Given the description of an element on the screen output the (x, y) to click on. 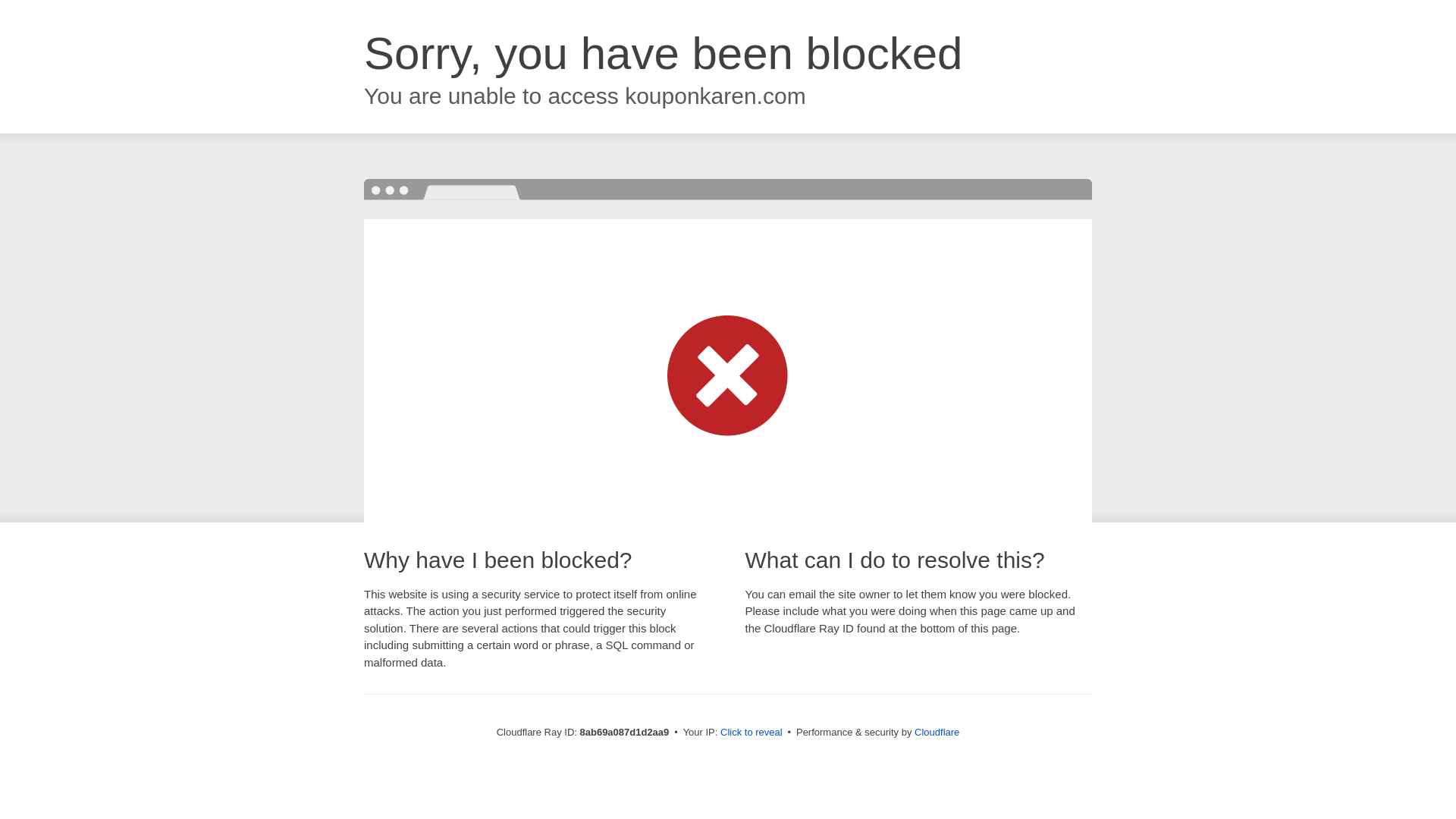
Click to reveal (751, 732)
Cloudflare (936, 731)
